Given the description of an element on the screen output the (x, y) to click on. 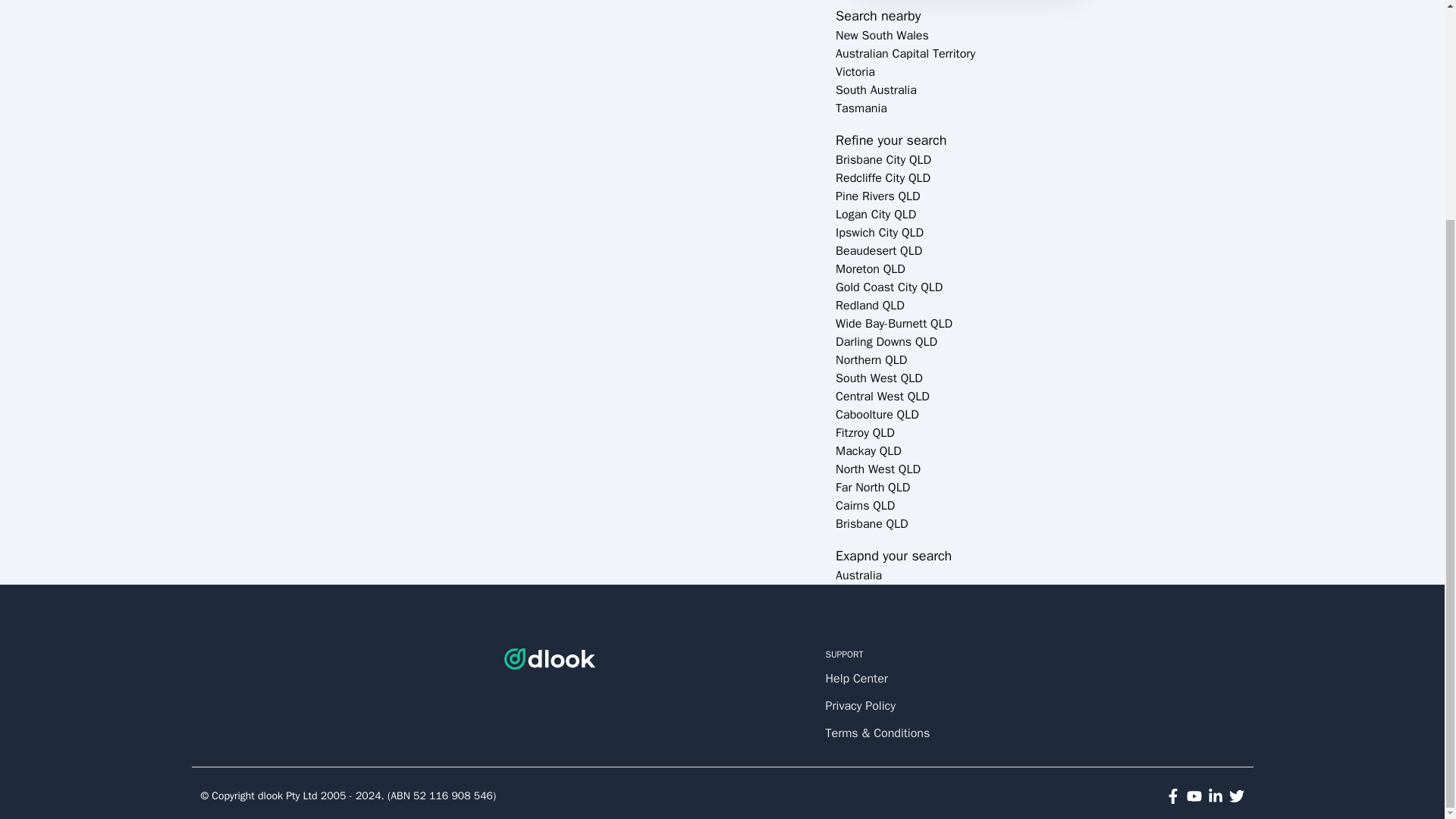
Wide Bay-Burnett QLD (893, 323)
Northern QLD (871, 359)
Beaudesert QLD (878, 250)
Moreton QLD (870, 268)
Tasmania (860, 108)
Darling Downs QLD (886, 341)
Cairns QLD (865, 505)
Redland QLD (869, 305)
Go to dlook's Facebook Page (1171, 795)
Help Center (882, 678)
Pine Rivers QLD (877, 196)
North West QLD (877, 468)
Redcliffe City QLD (882, 177)
South Australia (876, 89)
Central West QLD (882, 396)
